Given the description of an element on the screen output the (x, y) to click on. 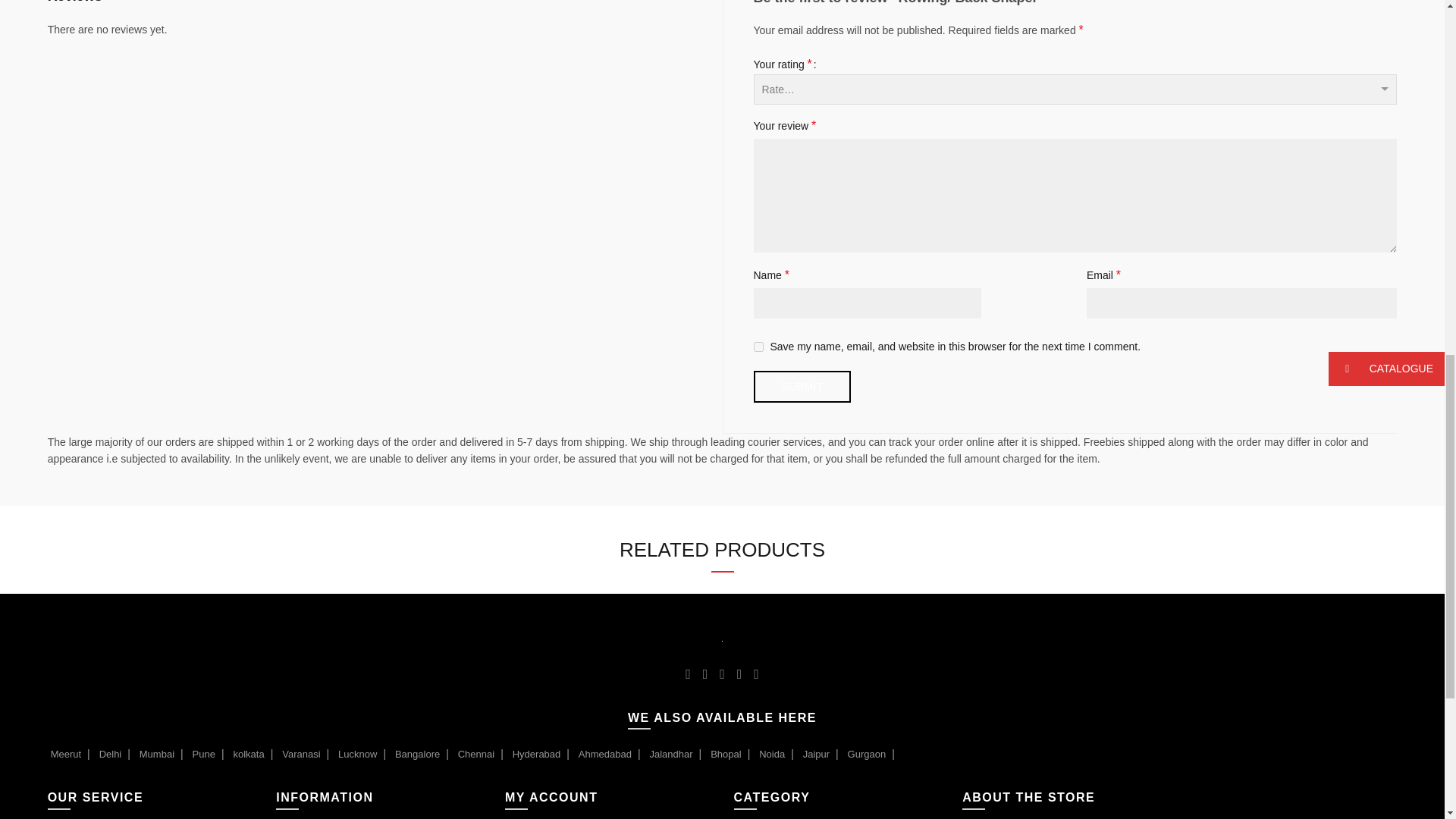
yes (758, 347)
Submit (802, 386)
